Given the description of an element on the screen output the (x, y) to click on. 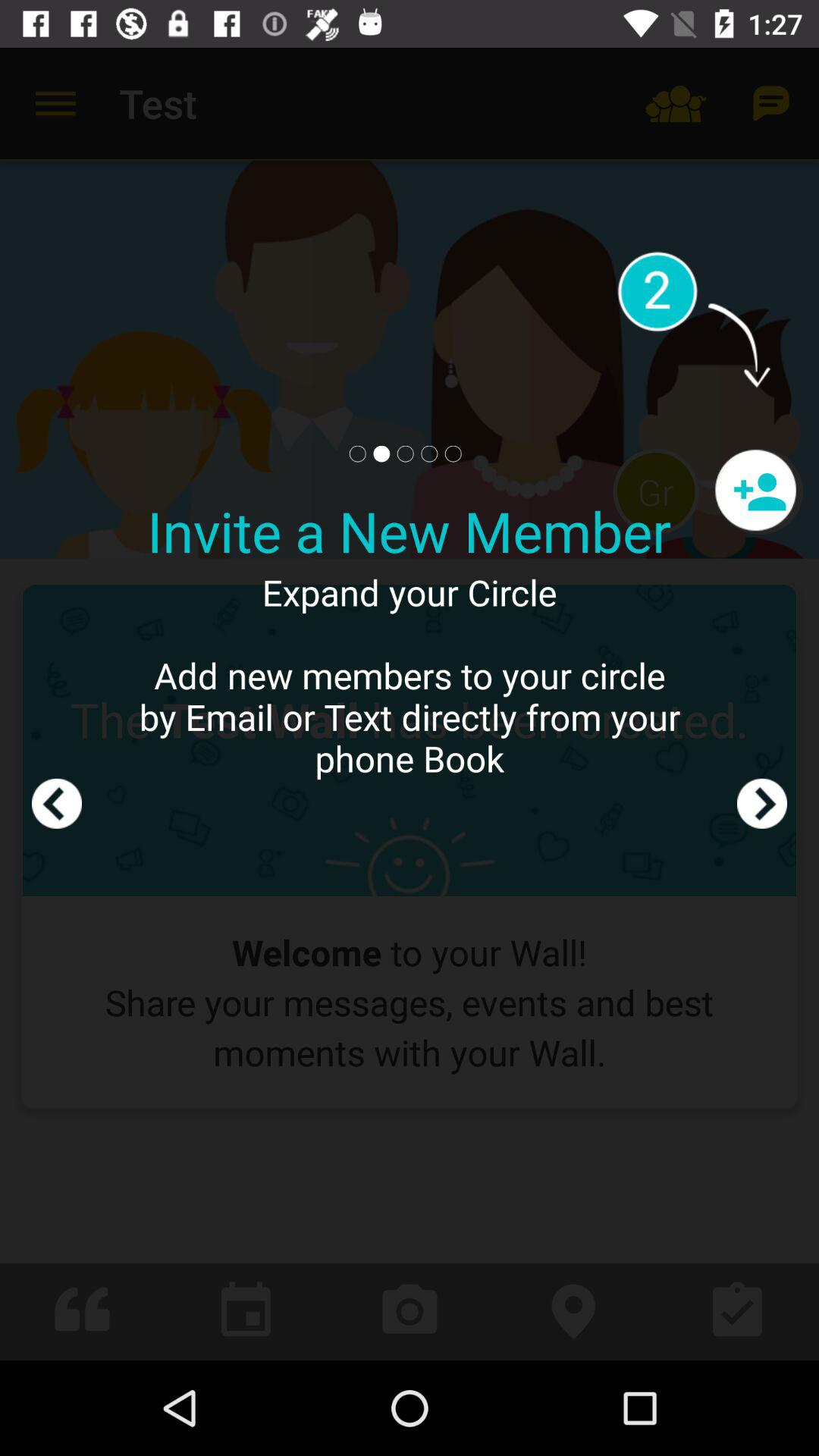
go to next (762, 703)
